Given the description of an element on the screen output the (x, y) to click on. 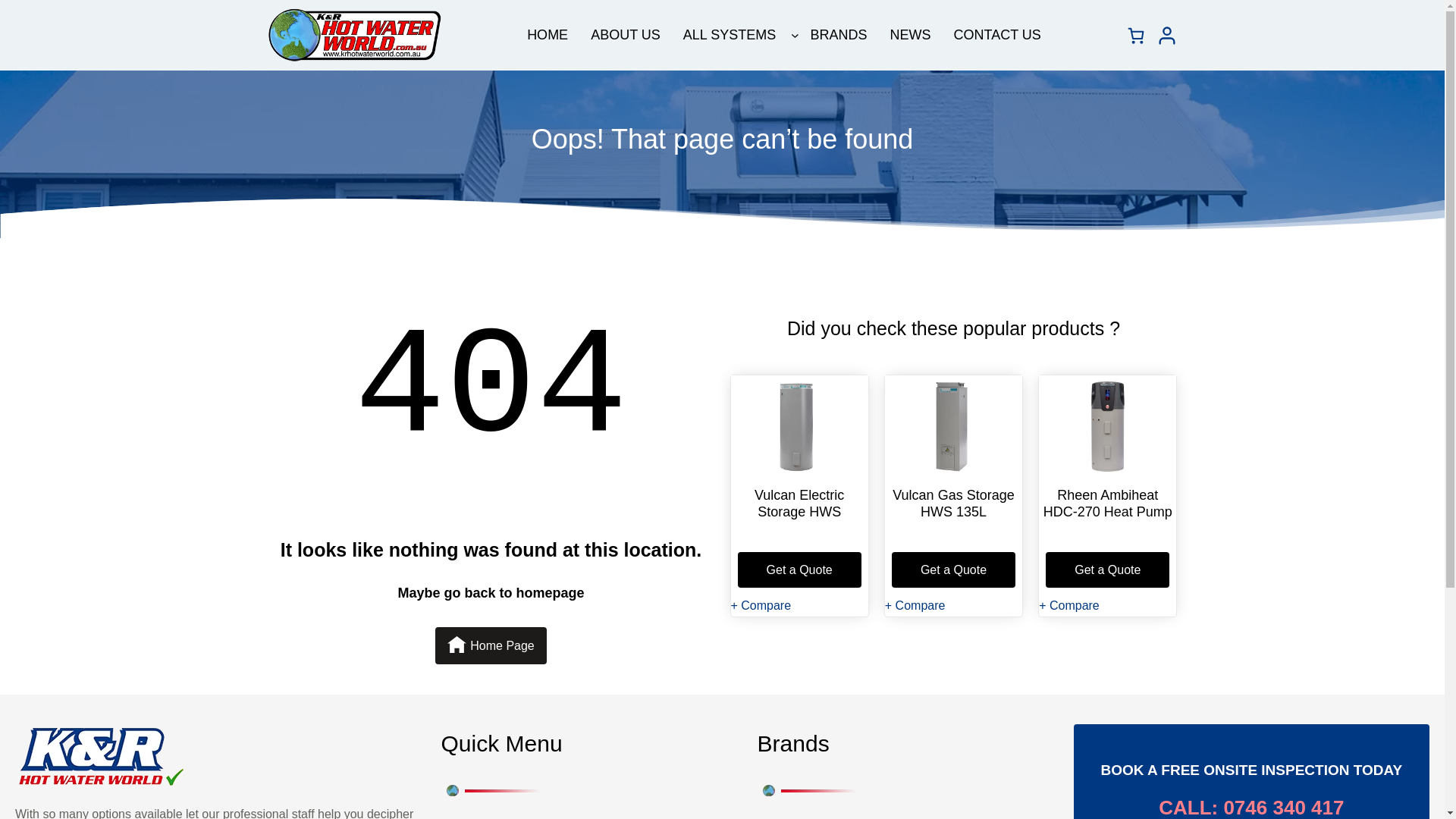
BRANDS Element type: text (838, 34)
+ Compare Element type: text (914, 605)
HOME Element type: text (547, 34)
+ Compare Element type: text (761, 605)
+ Compare Element type: text (1068, 605)
Get a Quote Element type: text (953, 569)
ALL SYSTEMS Element type: text (729, 34)
CONTACT US Element type: text (997, 34)
NEWS Element type: text (910, 34)
Get a Quote Element type: text (1107, 569)
Home Page Element type: text (490, 645)
ABOUT US Element type: text (625, 34)
Get a Quote Element type: text (799, 569)
